Given the description of an element on the screen output the (x, y) to click on. 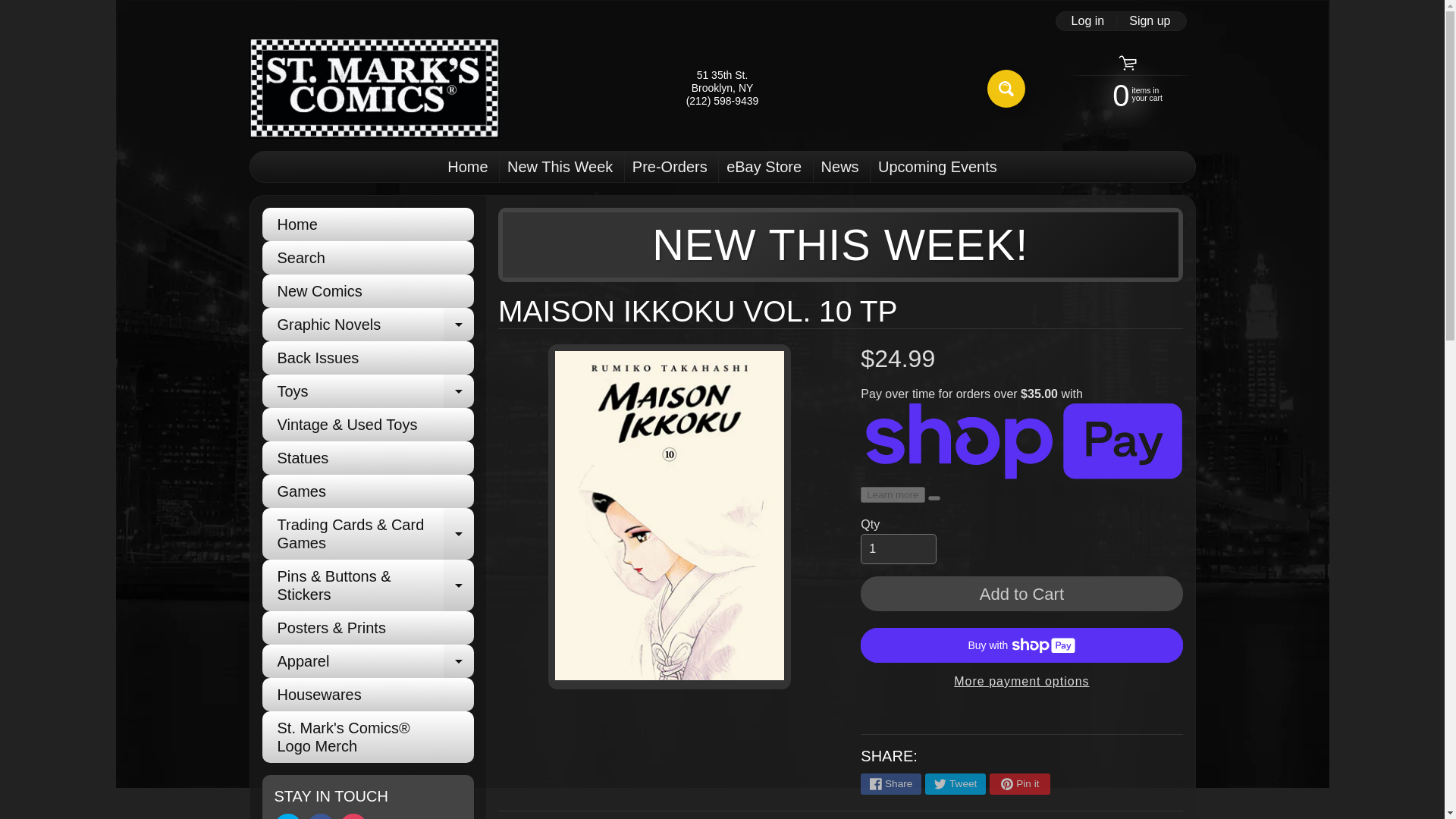
1 (898, 548)
Pin on Pinterest (1019, 783)
Search (1006, 88)
Share on Facebook (890, 783)
Log in (1088, 21)
Upcoming Events (368, 324)
Facebook (937, 166)
New This Week (320, 816)
Tweet on Twitter (559, 166)
